Given the description of an element on the screen output the (x, y) to click on. 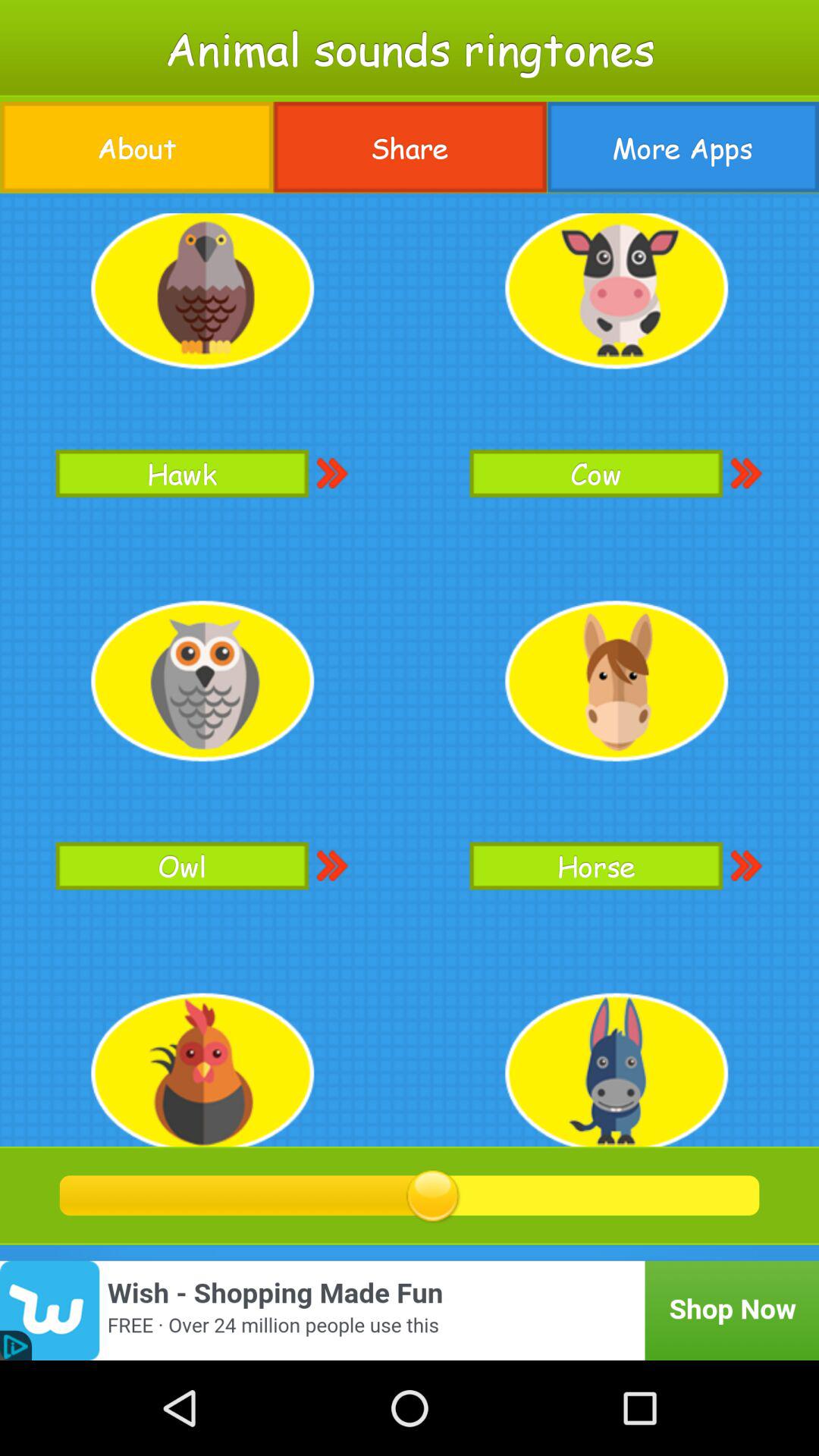
open horse icon (595, 865)
